Given the description of an element on the screen output the (x, y) to click on. 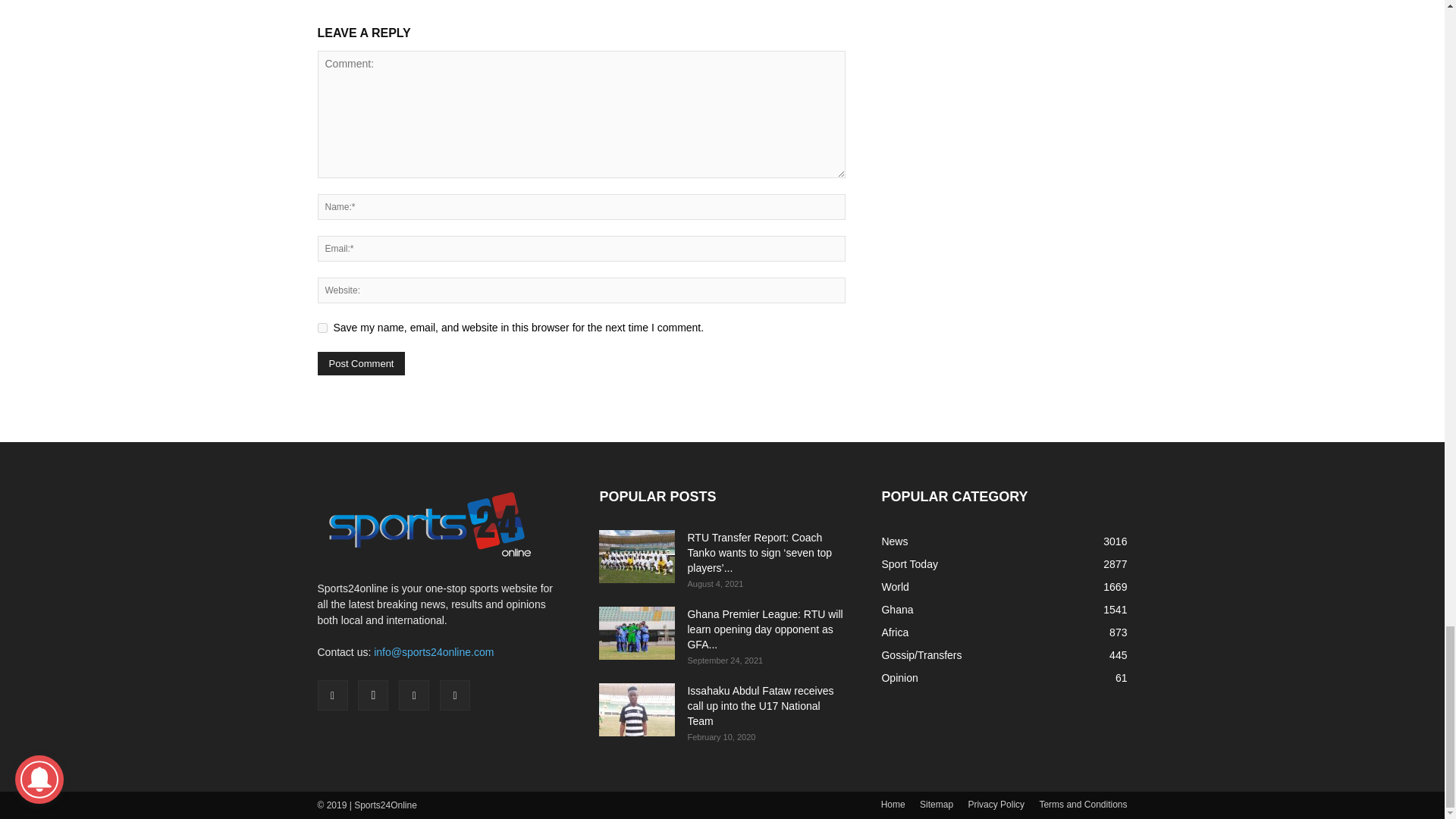
yes (321, 327)
Post Comment (360, 363)
